Given the description of an element on the screen output the (x, y) to click on. 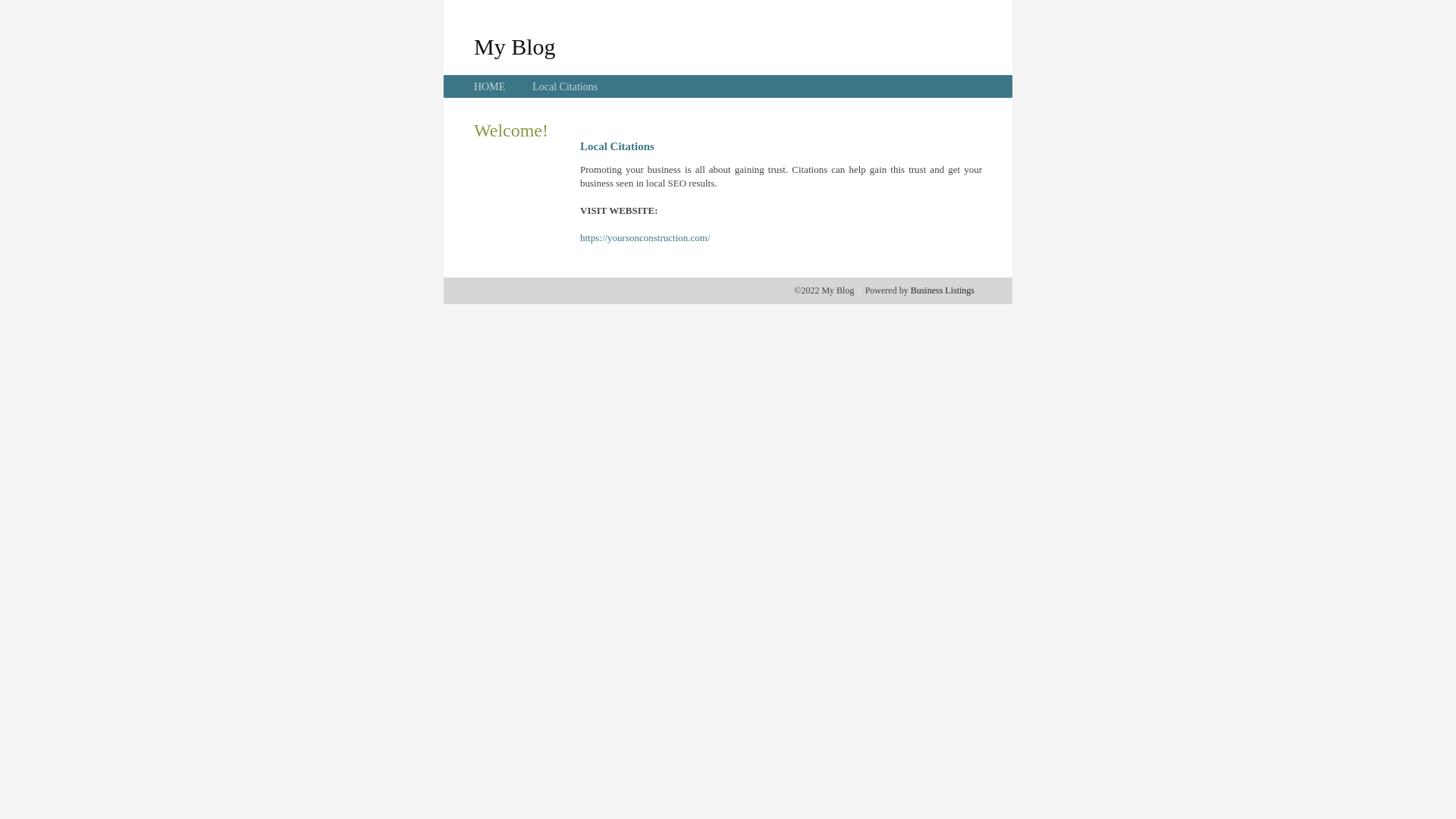
My Blog Element type: text (514, 46)
Business Listings Element type: text (942, 290)
https://yoursonconstruction.com/ Element type: text (645, 237)
Local Citations Element type: text (564, 86)
HOME Element type: text (489, 86)
